Given the description of an element on the screen output the (x, y) to click on. 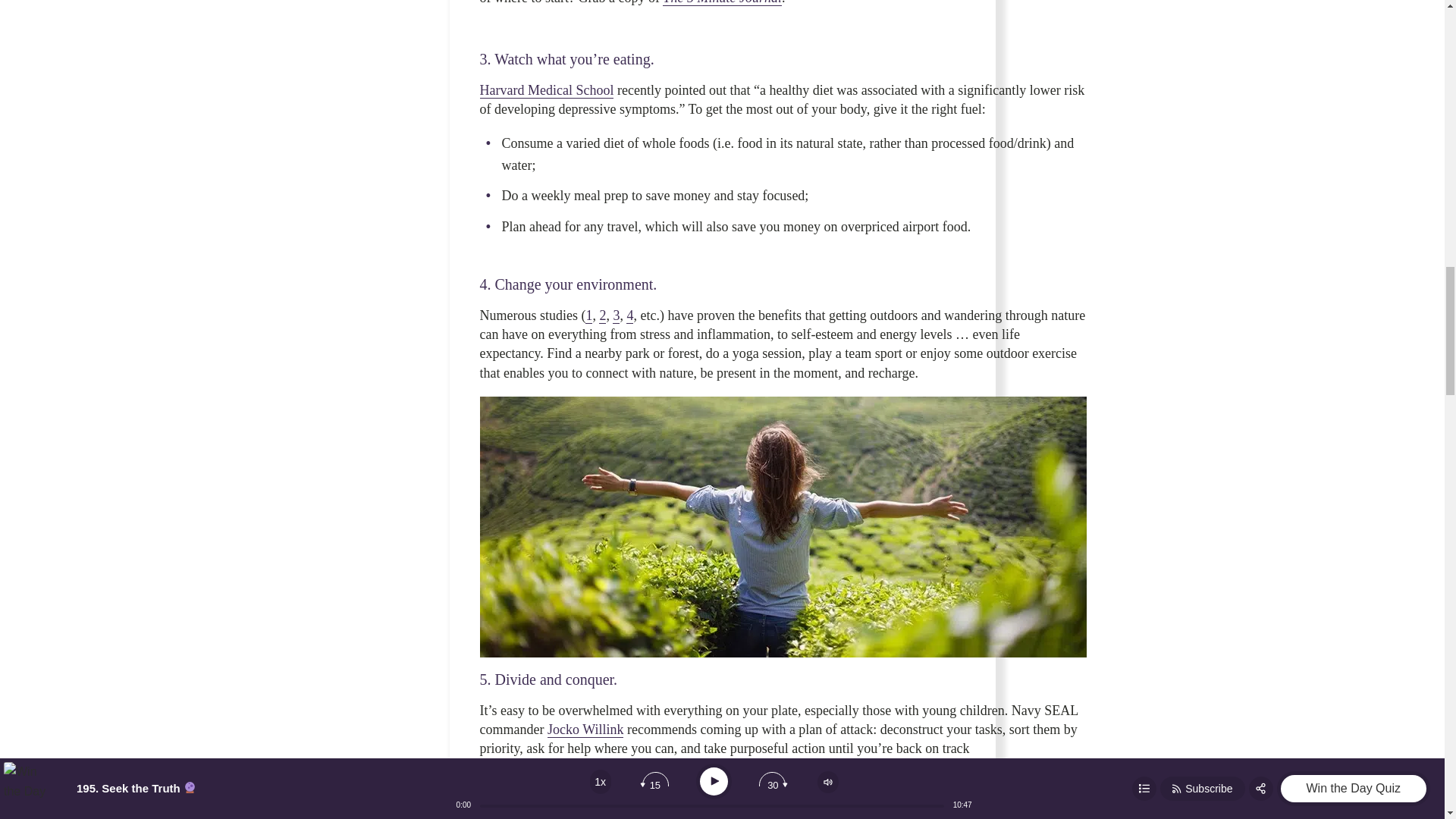
The 5 Minute Journal (721, 2)
Harvard Medical School (545, 90)
Jocko Willink (585, 729)
